Given the description of an element on the screen output the (x, y) to click on. 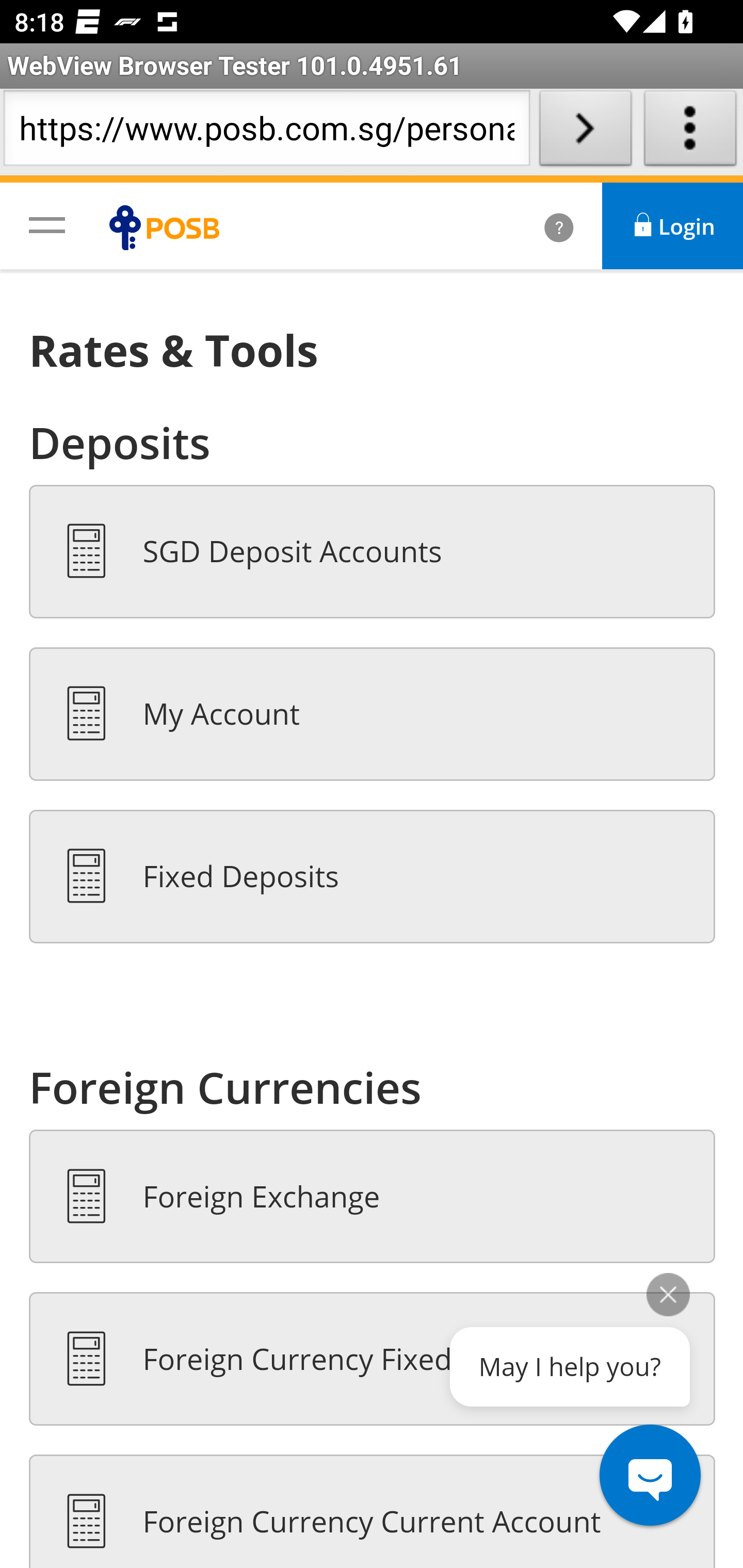
Load URL (585, 132)
About WebView (690, 132)
javascript:void(0); (46, 223)
POSB logo (169, 226)
ﱲ (537, 226)
Login  Login (673, 225)
 SGD Deposit Accounts  SGD Deposit Accounts (372, 551)
 My Account  My Account (372, 714)
 Fixed Deposits  Fixed Deposits (372, 876)
 Foreign Exchange  Foreign Exchange (372, 1195)
